Given the description of an element on the screen output the (x, y) to click on. 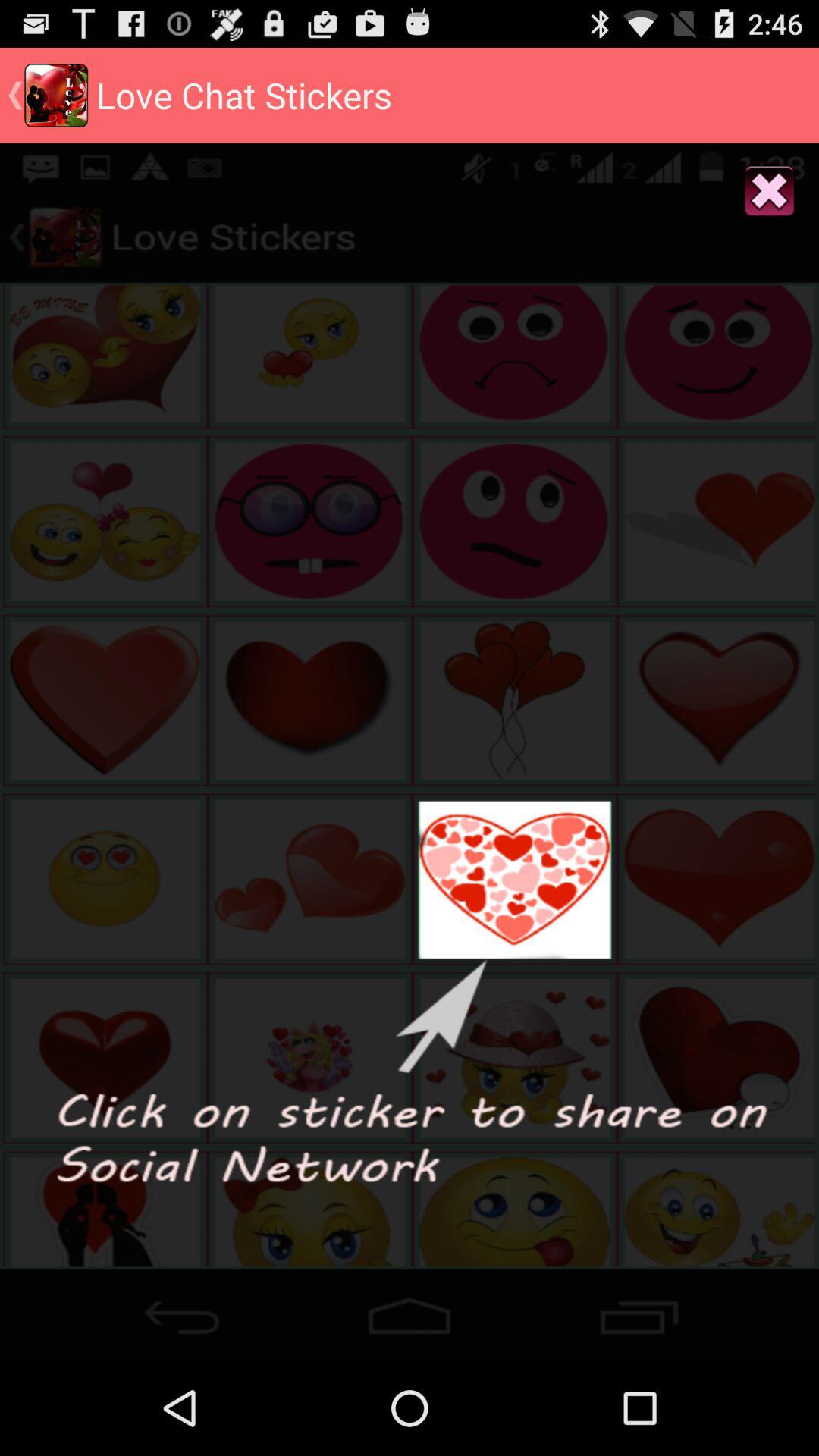
heart emoji (409, 1310)
